Given the description of an element on the screen output the (x, y) to click on. 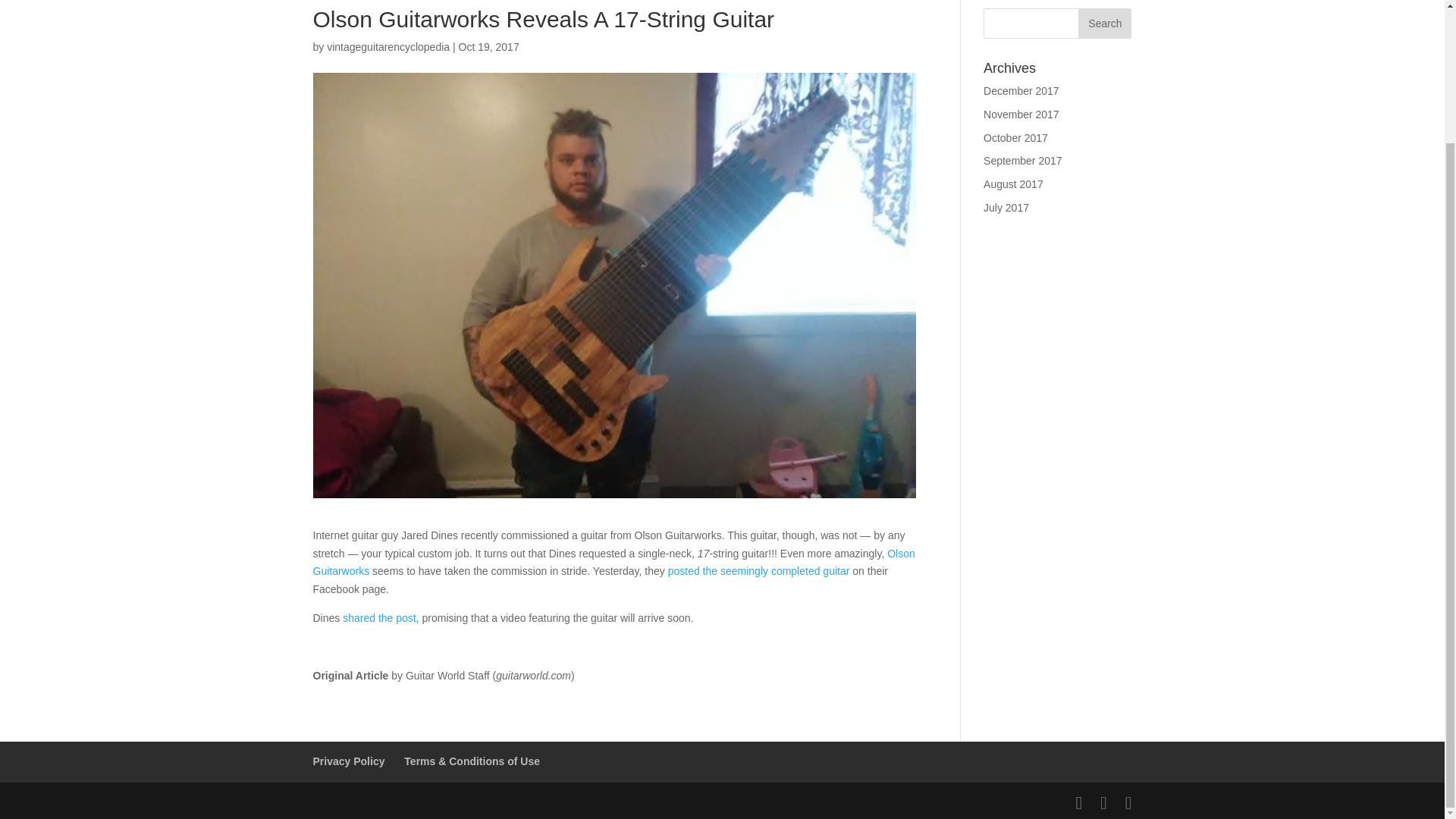
shared the post (379, 617)
November 2017 (1021, 114)
September 2017 (1023, 160)
October 2017 (1016, 137)
July 2017 (1006, 207)
posted the seemingly completed guitar (759, 571)
Olson Guitarworks (613, 562)
Privacy Policy (348, 761)
vintageguitarencyclopedia (387, 46)
Search (1104, 23)
